Given the description of an element on the screen output the (x, y) to click on. 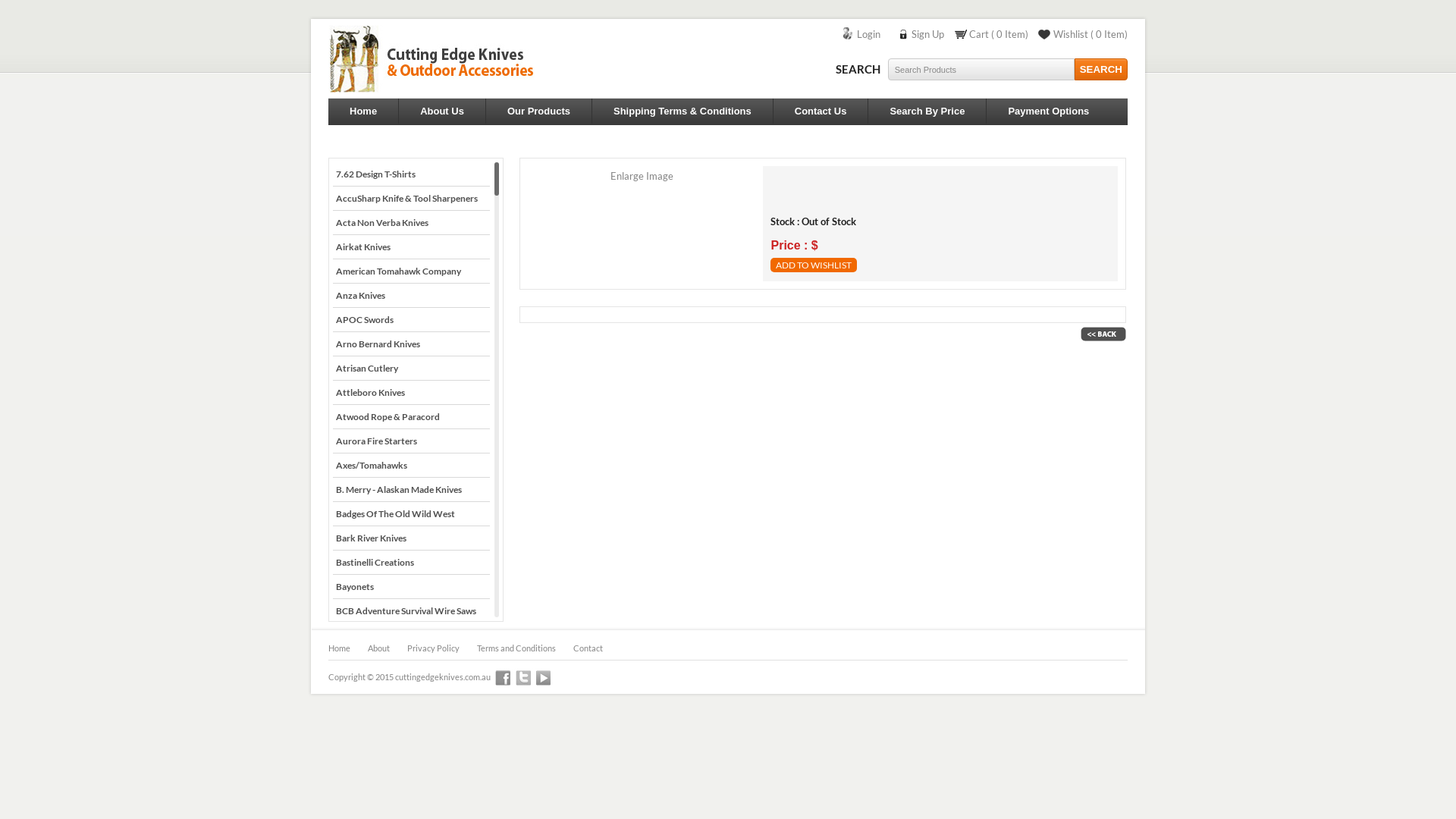
Search By Price Element type: text (926, 110)
About Element type: text (378, 645)
Axes/Tomahawks Element type: text (410, 465)
Payment Options Element type: text (1048, 110)
Wishlist ( 0 Item) Element type: text (1090, 34)
Shipping Terms & Conditions Element type: text (682, 110)
Acta Non Verba Knives Element type: text (410, 222)
Home Element type: text (363, 110)
ADD TO WISHLIST Element type: text (813, 264)
Enlarge Image Element type: text (641, 175)
7.62 Design T-Shirts Element type: text (410, 174)
American Tomahawk Company Element type: text (410, 271)
Sign Up Element type: text (927, 34)
Airkat Knives Element type: text (410, 247)
Bayonets Element type: text (410, 586)
Cart ( 0 Item) Element type: text (998, 34)
Anza Knives Element type: text (410, 295)
BCB Adventure Survival Wire Saws Element type: text (410, 611)
Login  Element type: text (869, 34)
Arno Bernard Knives Element type: text (410, 344)
Home Element type: text (339, 645)
B. Merry - Alaskan Made Knives Element type: text (410, 489)
Attleboro Knives Element type: text (410, 392)
About Us Element type: text (441, 110)
Bastinelli Creations Element type: text (410, 562)
Aurora Fire Starters Element type: text (410, 441)
Contact Element type: text (587, 645)
Privacy Policy Element type: text (433, 645)
Atwood Rope & Paracord Element type: text (410, 416)
Our Products Element type: text (538, 110)
Badges Of The Old Wild West Element type: text (410, 514)
Atrisan Cutlery Element type: text (410, 368)
back Element type: hover (1103, 333)
Contact Us Element type: text (820, 110)
Search Element type: text (1100, 69)
Bark River Knives Element type: text (410, 538)
AccuSharp Knife & Tool Sharpeners Element type: text (410, 198)
APOC Swords Element type: text (410, 319)
Terms and Conditions Element type: text (515, 645)
